Given the description of an element on the screen output the (x, y) to click on. 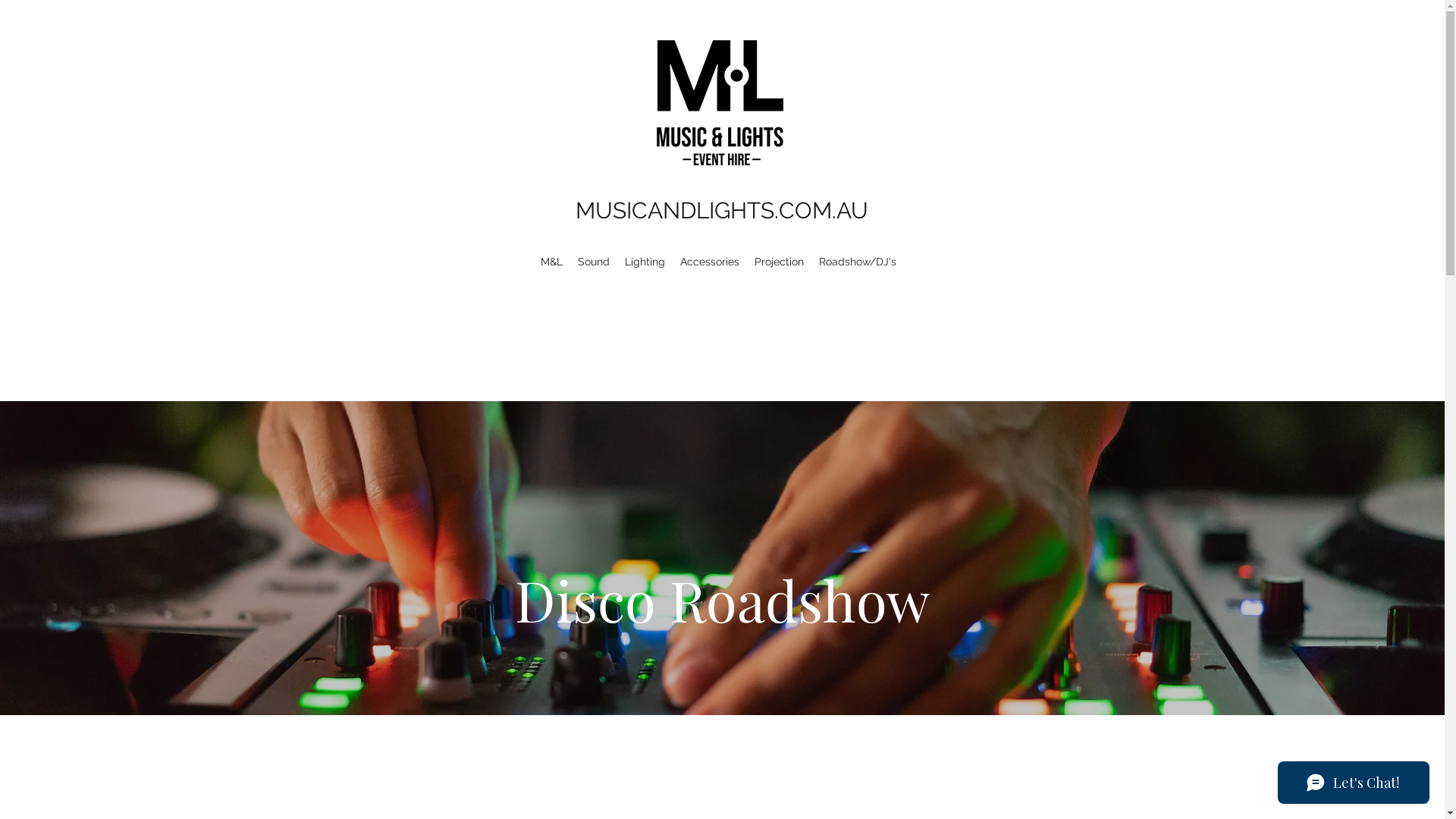
MUSICANDLIGHTS.COM.AU Element type: text (721, 210)
Accessories Element type: text (709, 261)
Lighting Element type: text (644, 261)
Sound Element type: text (593, 261)
M&L Element type: text (551, 261)
Roadshow/DJ's Element type: text (857, 261)
Projection Element type: text (778, 261)
